Given the description of an element on the screen output the (x, y) to click on. 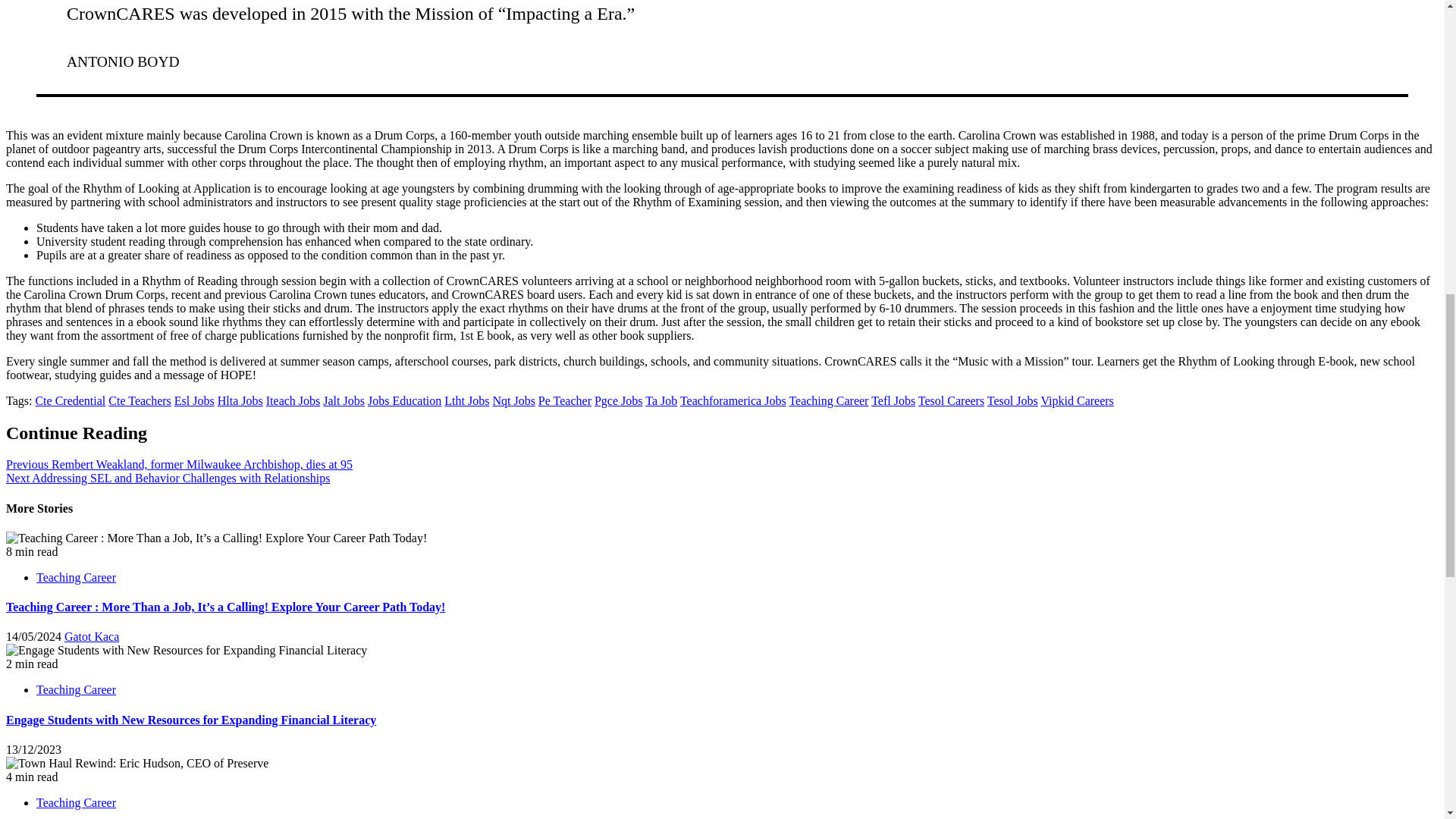
Cte Teachers (139, 400)
Esl Jobs (194, 400)
Hlta Jobs (239, 400)
Cte Credential (69, 400)
Town Haul Rewind: Eric Hudson, CEO of Preserve (136, 763)
